Given the description of an element on the screen output the (x, y) to click on. 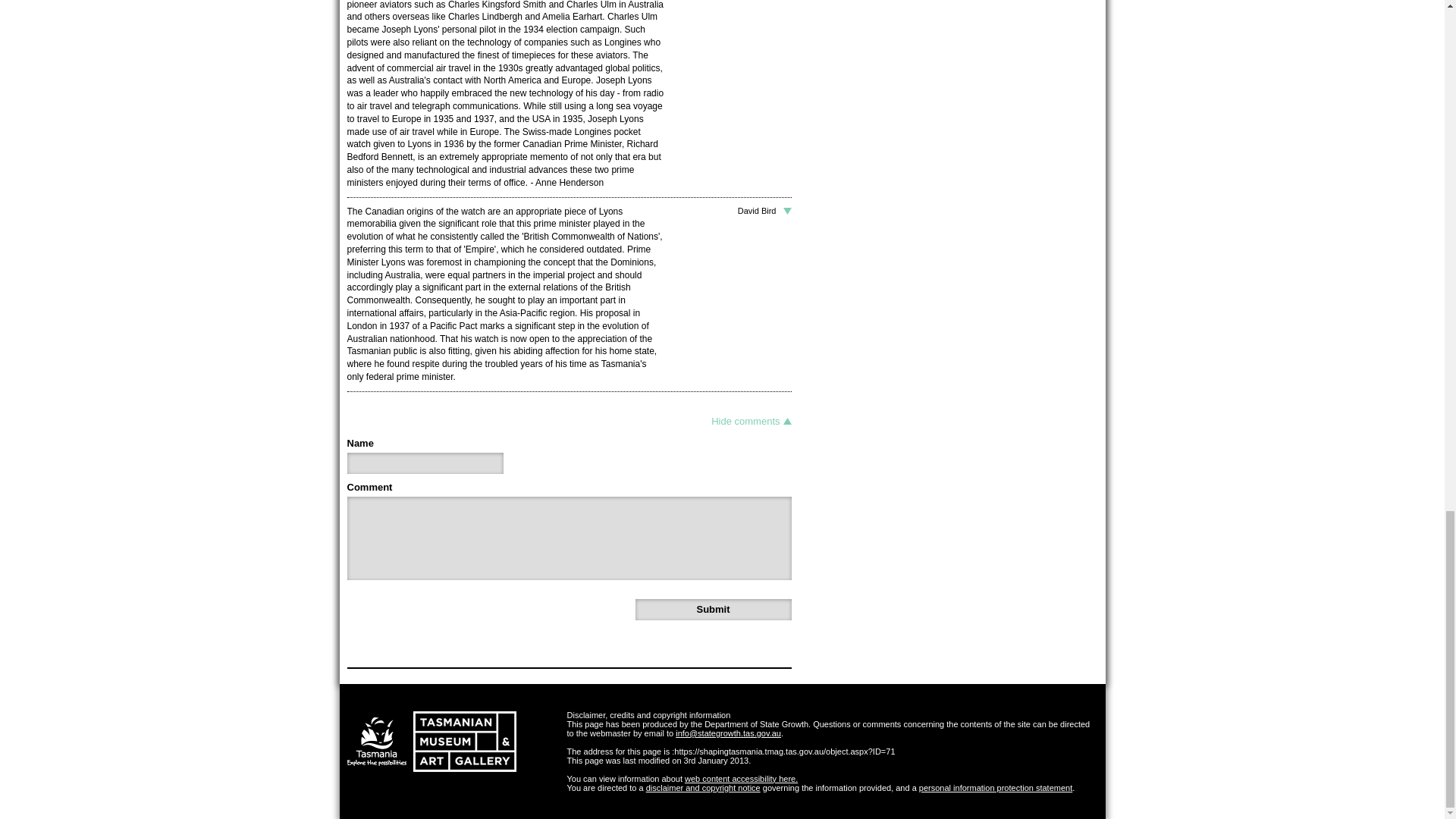
Submit (713, 608)
Submit (713, 608)
Hide comments (750, 421)
